Given the description of an element on the screen output the (x, y) to click on. 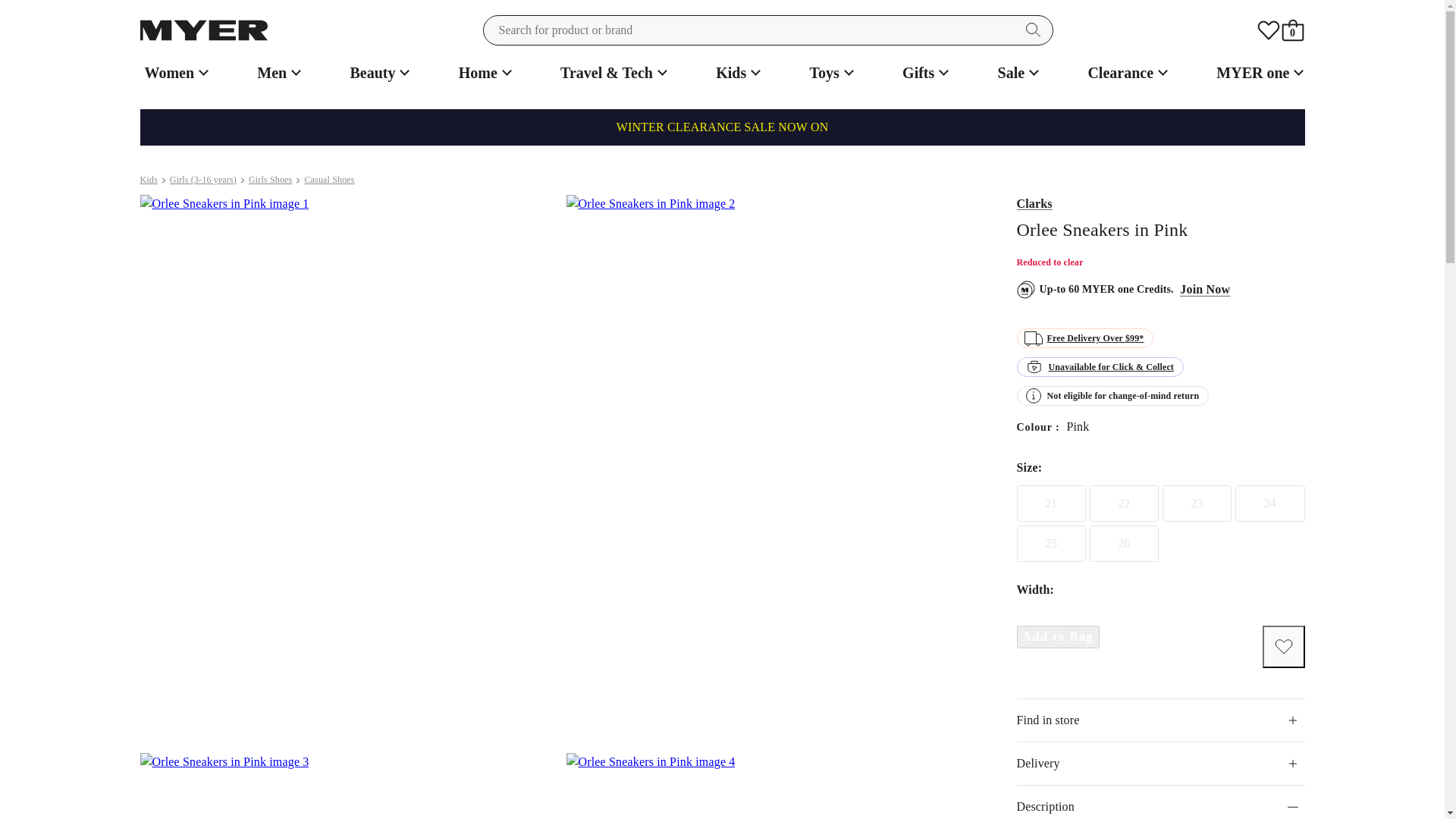
Men (276, 72)
Women (174, 72)
Kids (736, 72)
Beauty (377, 72)
Home (483, 72)
0 (1291, 30)
